Given the description of an element on the screen output the (x, y) to click on. 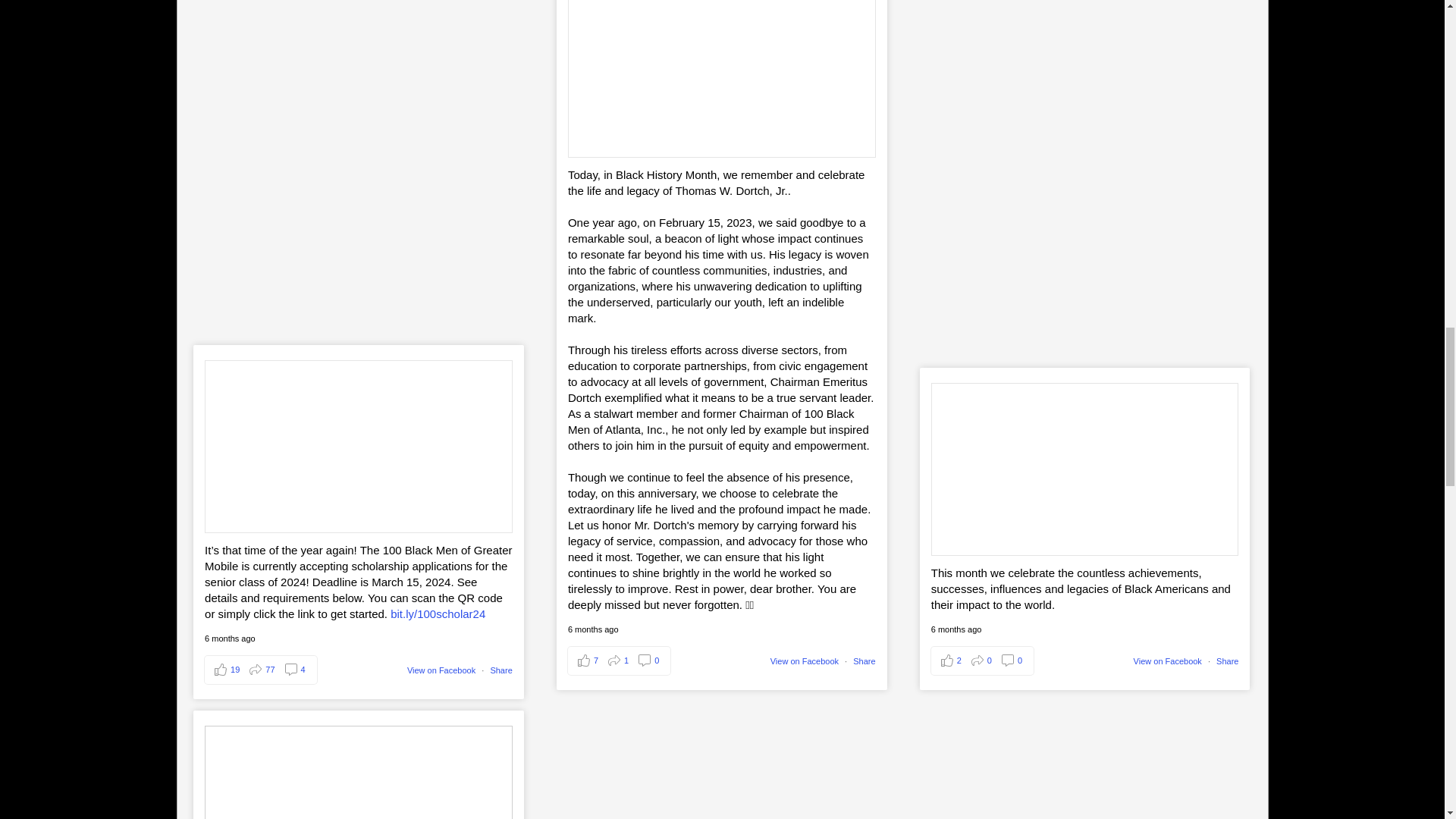
Share (500, 669)
View on Facebook (804, 660)
Share (500, 669)
Share (864, 660)
View on Facebook (441, 669)
View on Facebook (804, 660)
Share (1227, 660)
Share (864, 660)
View on Facebook (441, 669)
View on Facebook (1168, 660)
